Given the description of an element on the screen output the (x, y) to click on. 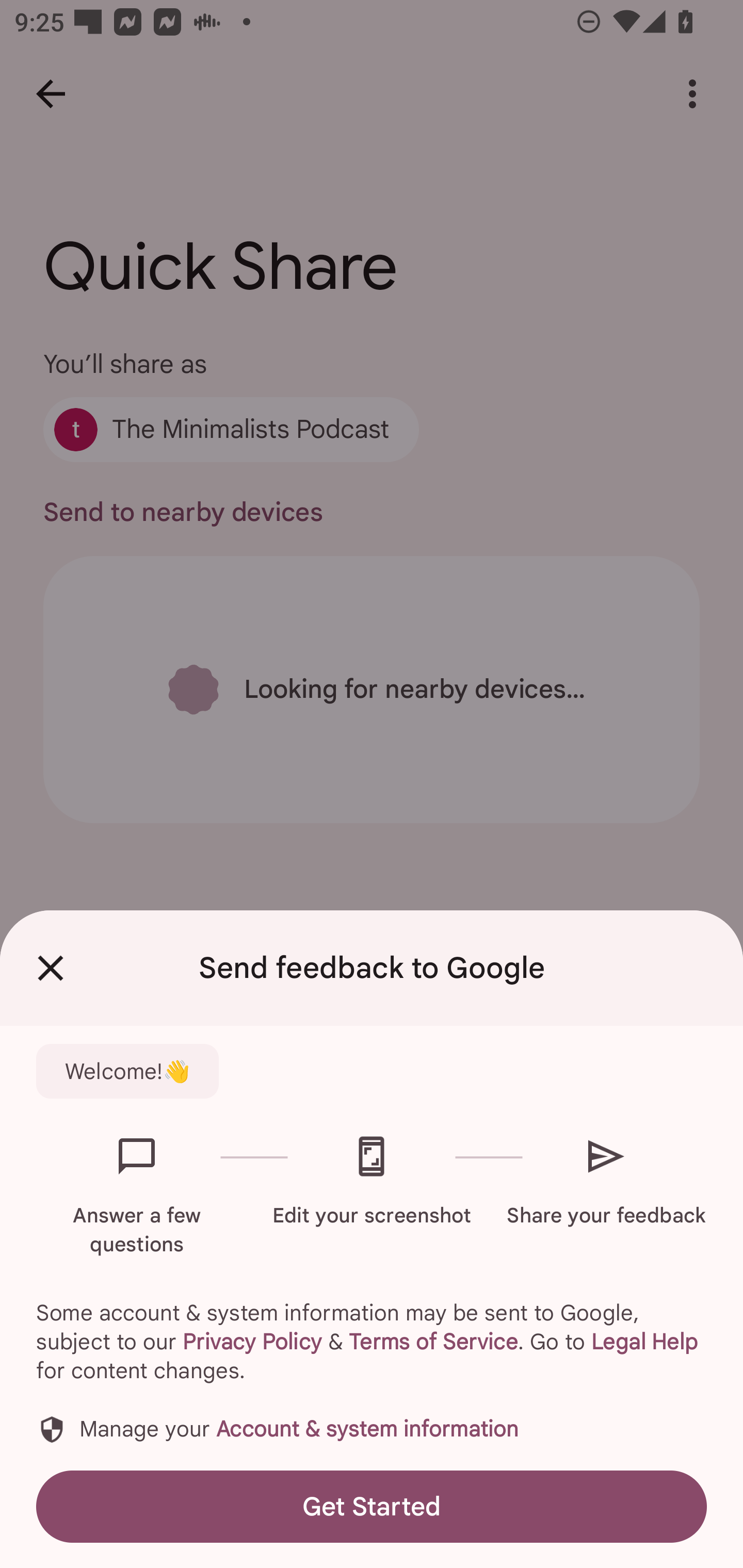
Close Feedback (50, 968)
Get Started (371, 1505)
